Given the description of an element on the screen output the (x, y) to click on. 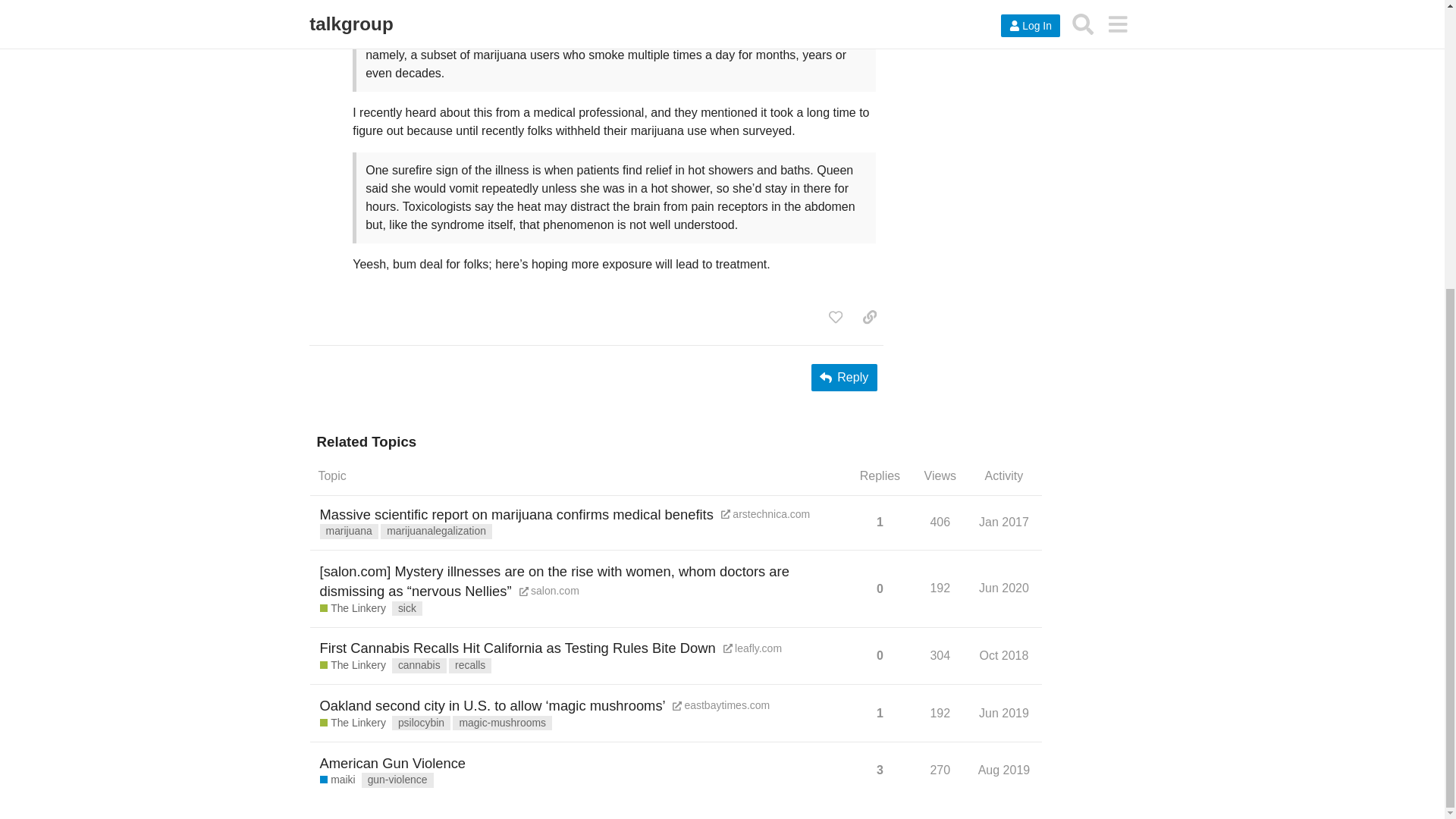
The Linkery (352, 608)
The Linkery (352, 665)
this topic has been viewed 192 times (940, 587)
recalls (470, 665)
marijuana (349, 531)
copy a link to this post to clipboard (869, 316)
Reply (843, 377)
arstechnica.com (764, 514)
Jun 2020 (1003, 588)
like this post (1005, 526)
this topic has been viewed 406 times (835, 316)
